Given the description of an element on the screen output the (x, y) to click on. 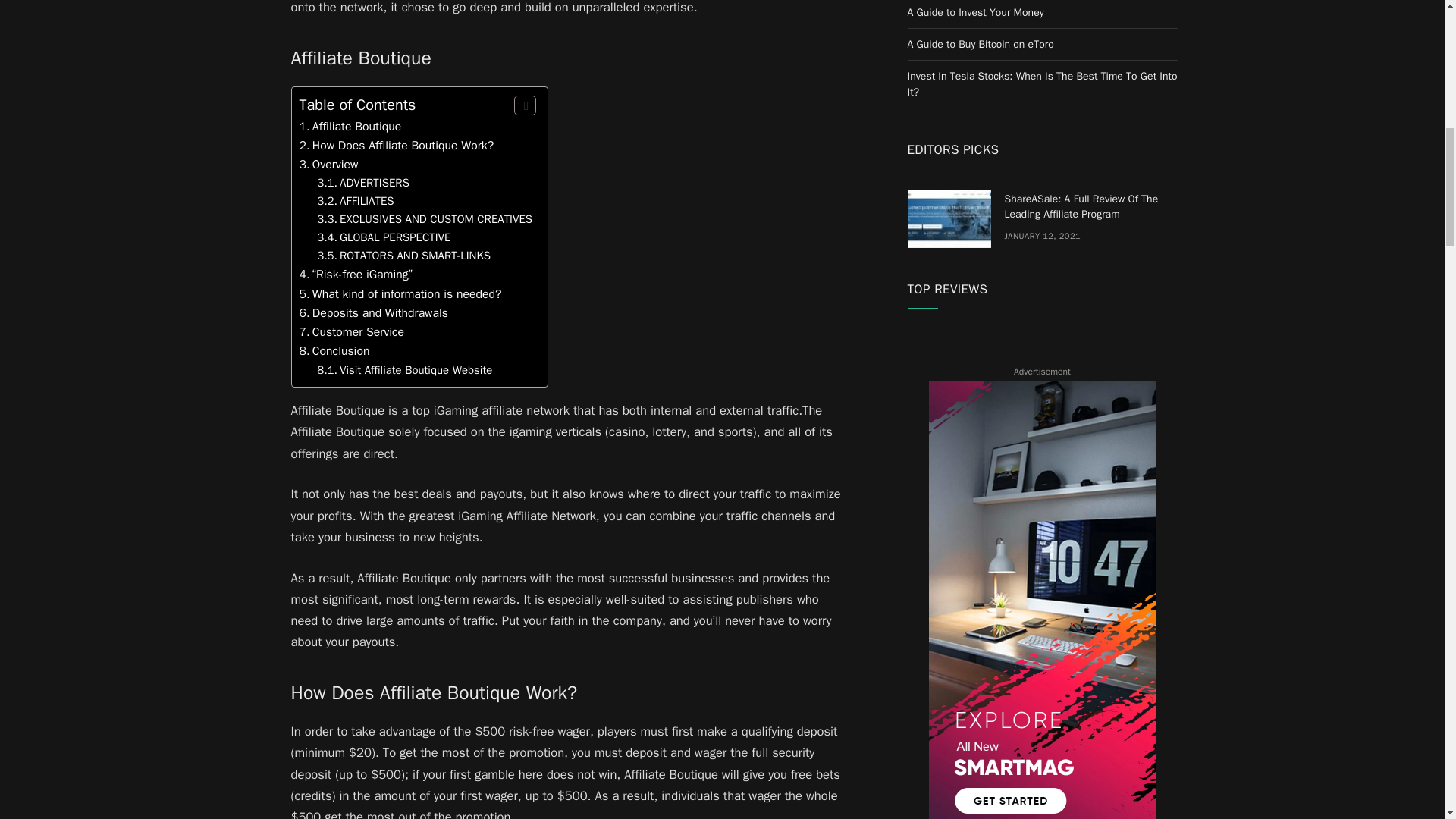
How Does Affiliate Boutique Work? (403, 145)
ADVERTISERS (374, 182)
How Does Affiliate Boutique Work? (403, 145)
Overview (335, 164)
Overview (335, 164)
AFFILIATES (366, 201)
Affiliate Boutique  (358, 126)
